Given the description of an element on the screen output the (x, y) to click on. 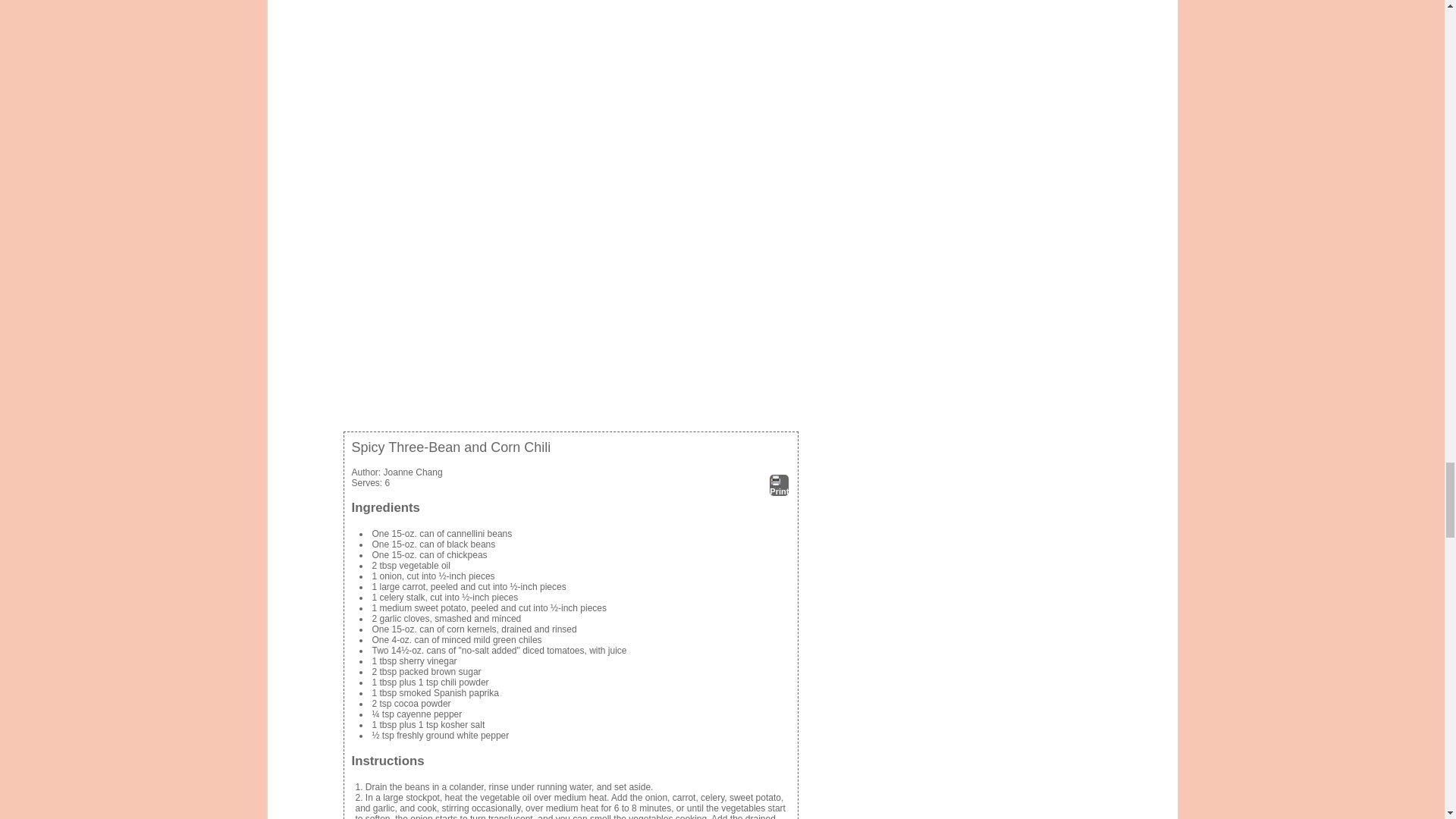
Print (779, 485)
Spicy Three-Bean and Corn Chili (569, 160)
